Given the description of an element on the screen output the (x, y) to click on. 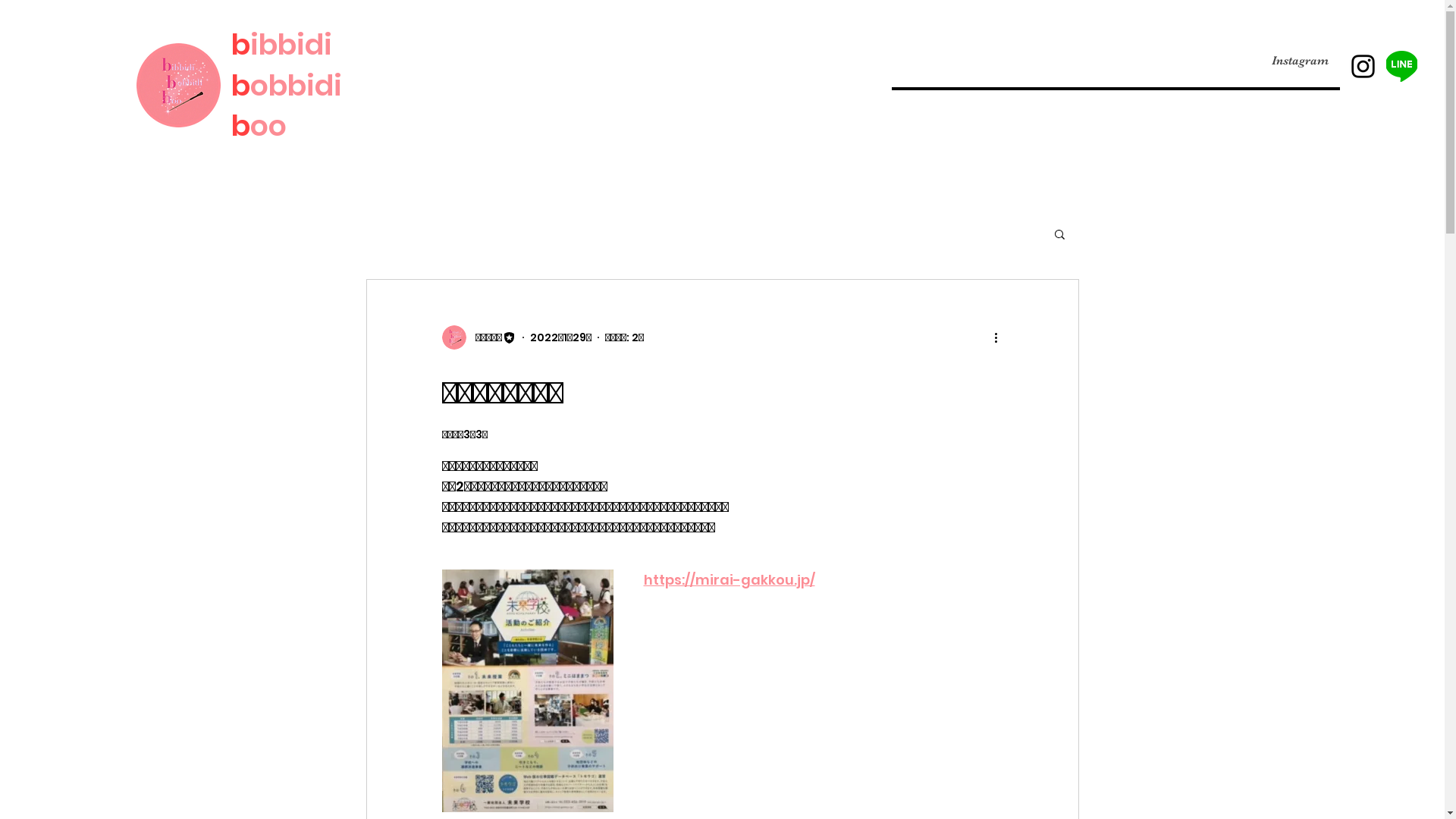
Instagram Element type: text (1271, 60)
https://mirai-gakkou.jp/ Element type: text (728, 579)
